Given the description of an element on the screen output the (x, y) to click on. 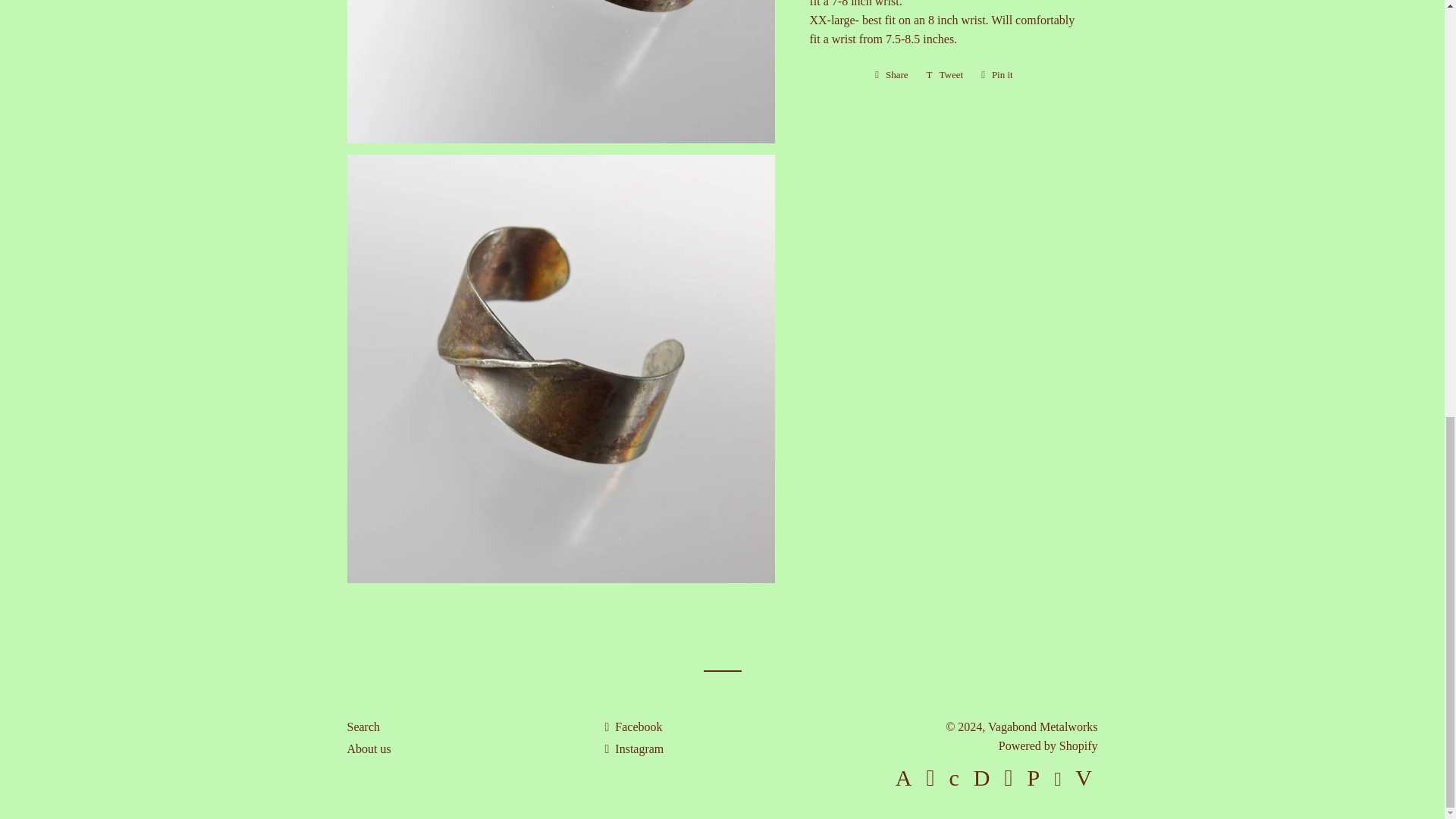
Vagabond Metalworks on Facebook (633, 726)
Share on Facebook (891, 74)
Vagabond Metalworks on Instagram (633, 748)
Pin on Pinterest (997, 74)
Tweet on Twitter (944, 74)
